Given the description of an element on the screen output the (x, y) to click on. 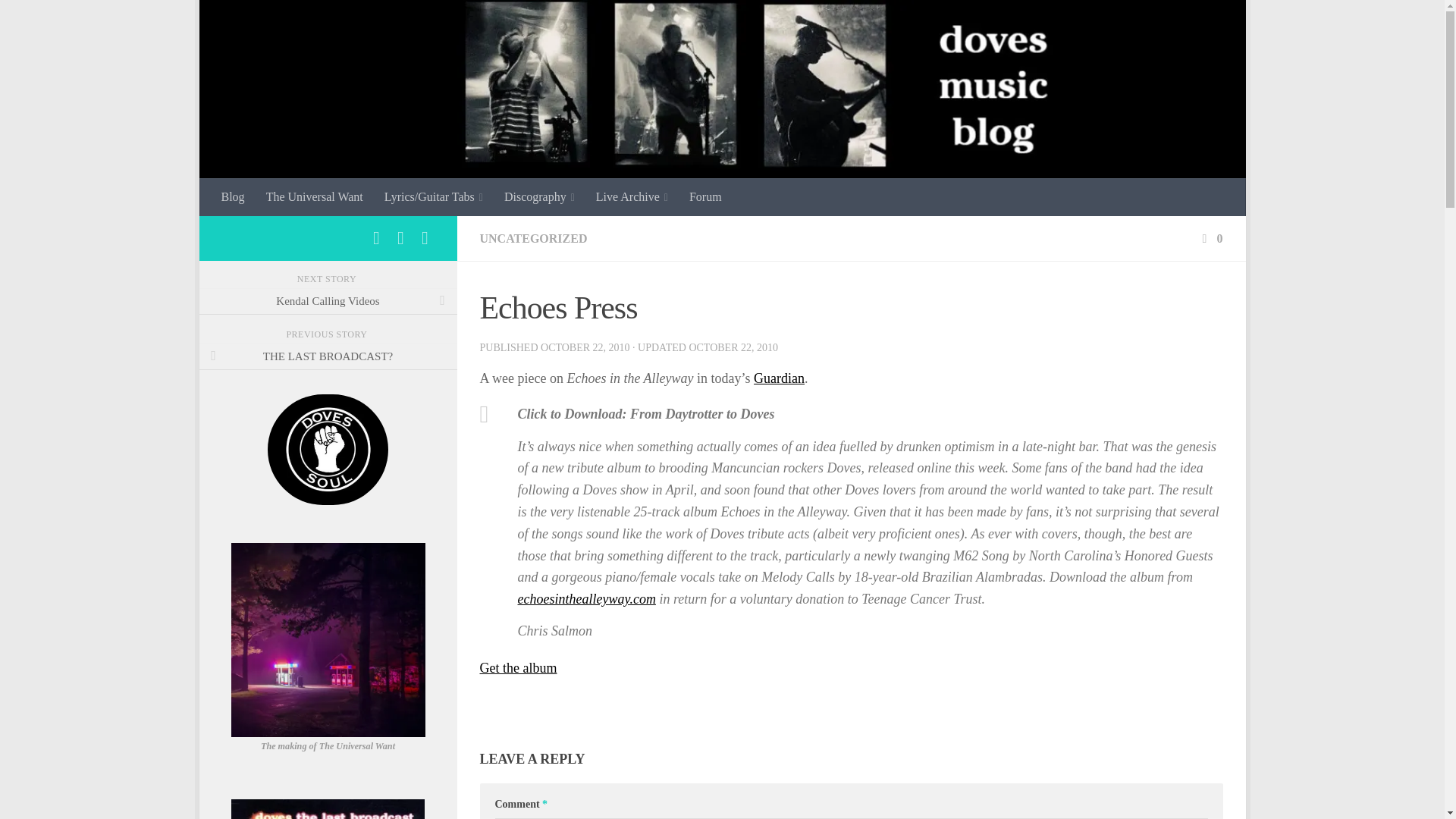
Skip to content (258, 20)
Follow us on Instagram (400, 238)
The Universal Want (315, 197)
Follow us on Twitter (423, 238)
Blog (233, 197)
